Given the description of an element on the screen output the (x, y) to click on. 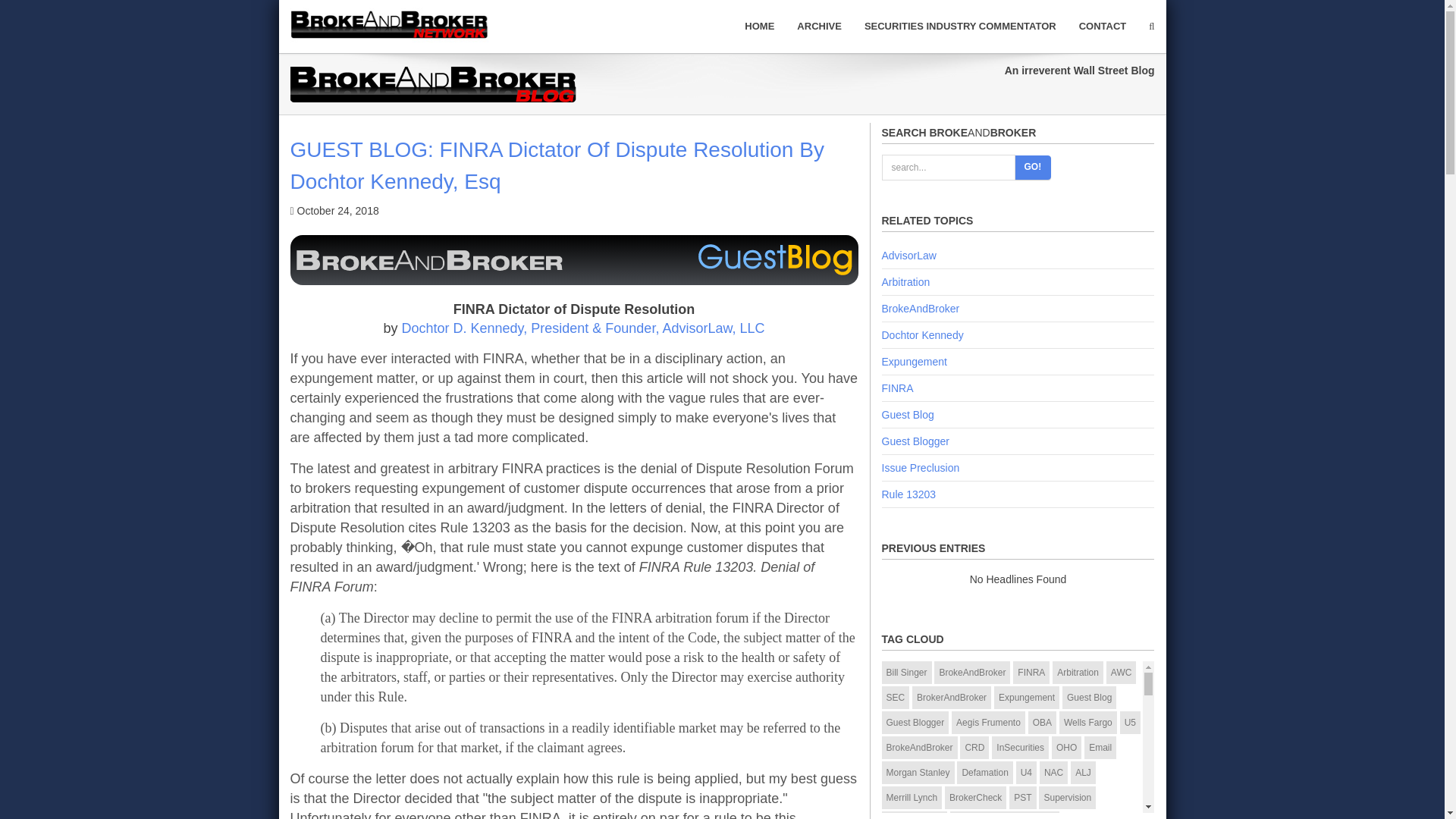
SECURITIES INDUSTRY COMMENTATOR (960, 26)
CONTACT (1102, 26)
ARCHIVE (819, 26)
HOME (759, 26)
